Given the description of an element on the screen output the (x, y) to click on. 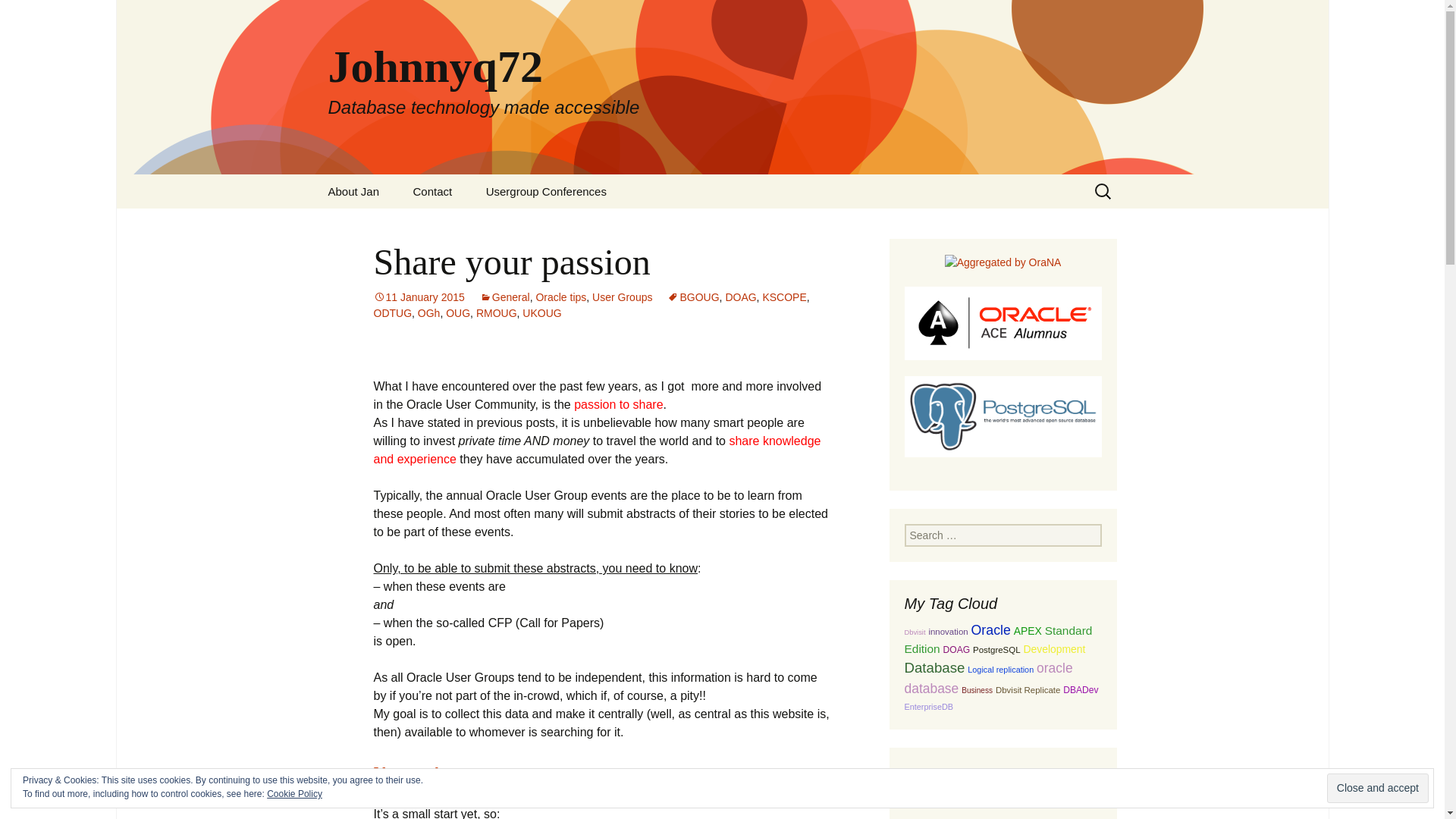
General (504, 297)
BGOUG (692, 297)
OUG (457, 313)
UKOUG (541, 313)
Oracle Usergroup Conferences (429, 772)
Tech Experience 2017 (546, 225)
Search (18, 15)
Search (34, 15)
Close and accept (1377, 788)
